Given the description of an element on the screen output the (x, y) to click on. 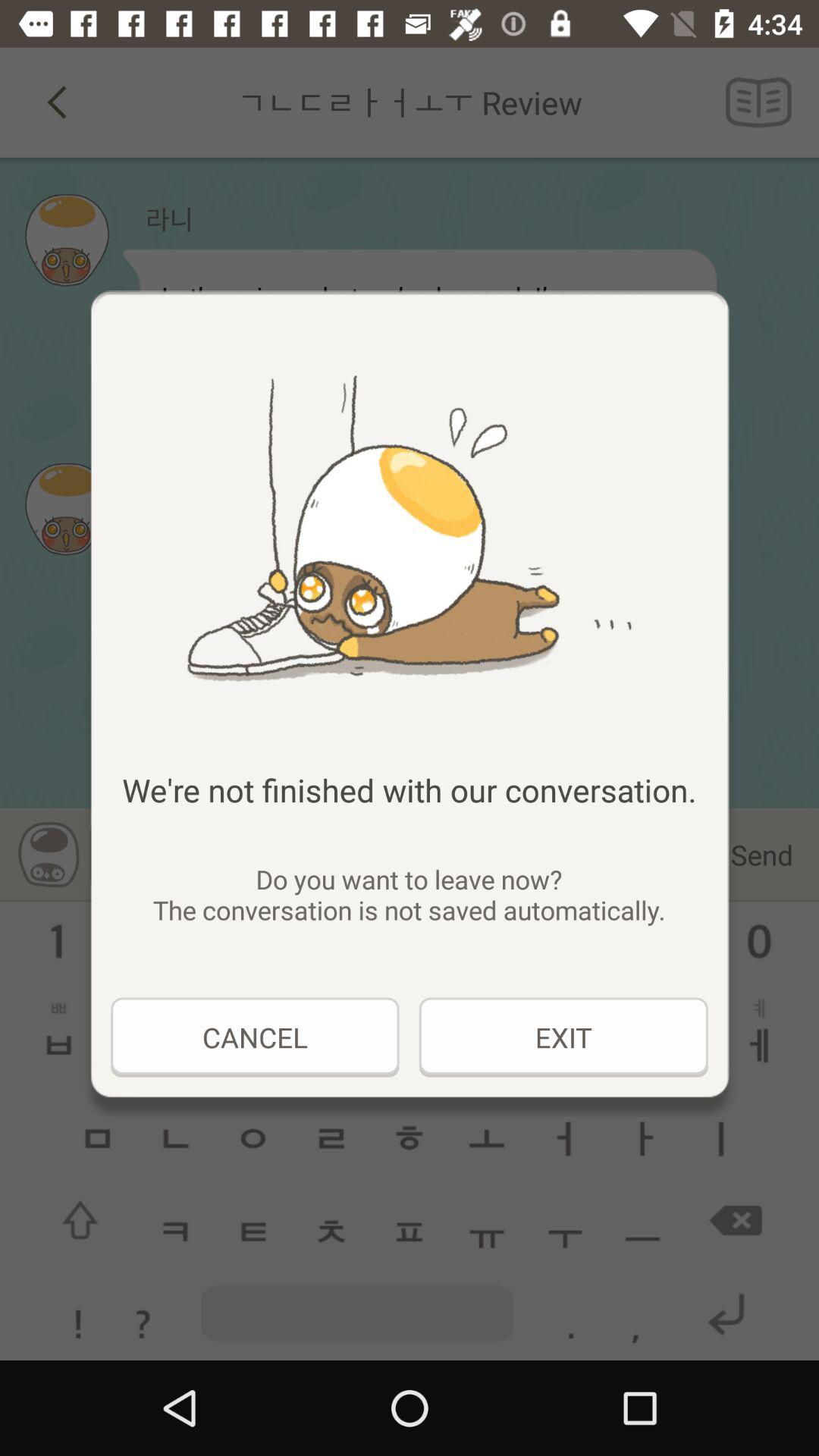
tap the icon to the right of cancel item (563, 1037)
